Given the description of an element on the screen output the (x, y) to click on. 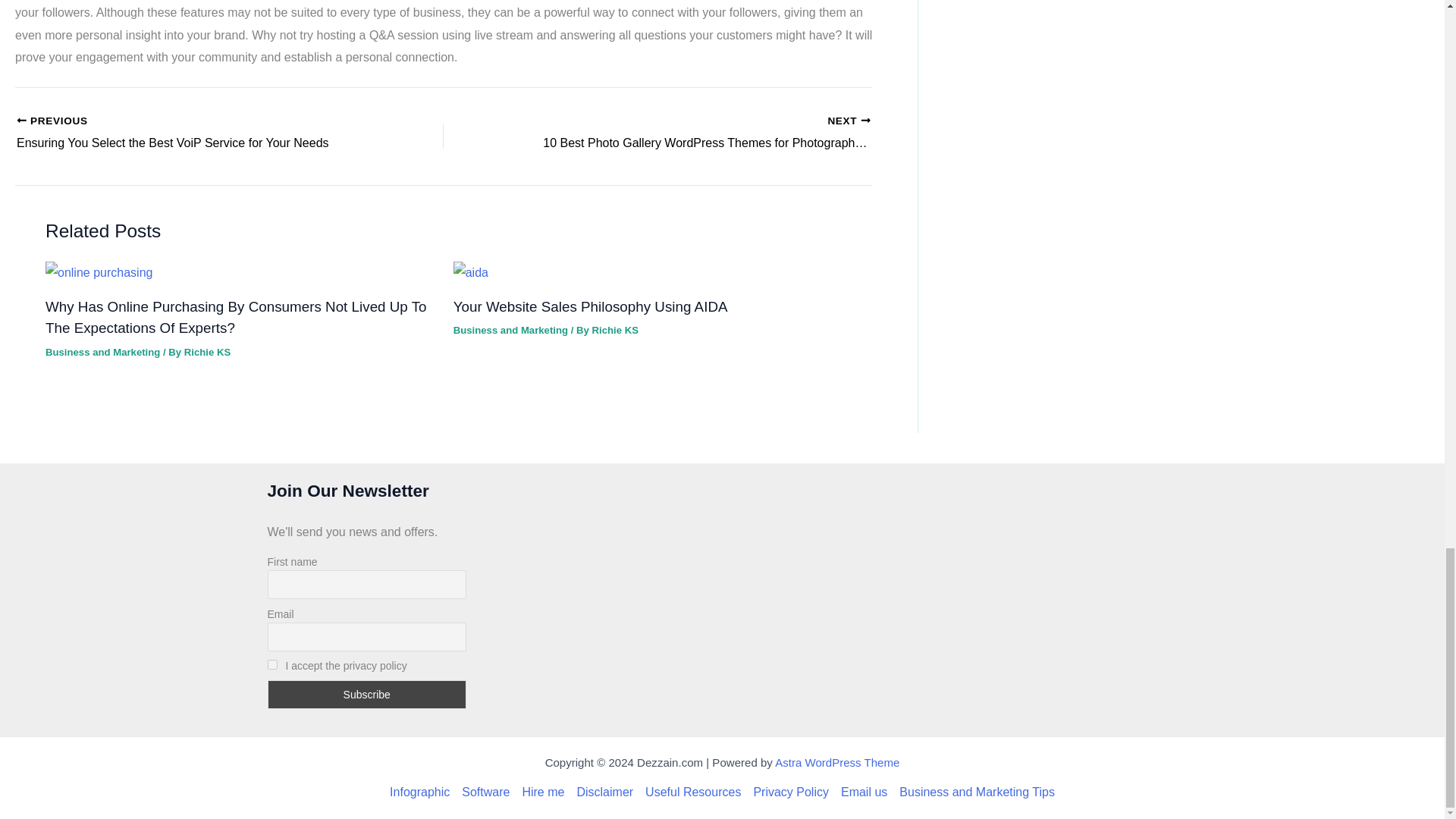
Subscribe (365, 694)
Hire Richie for Custom Work (542, 792)
View all posts by Richie KS (614, 329)
Ensuring You Select the Best VoiP Service for Your Needs (187, 133)
View all posts by Richie KS (207, 351)
on (271, 664)
